Given the description of an element on the screen output the (x, y) to click on. 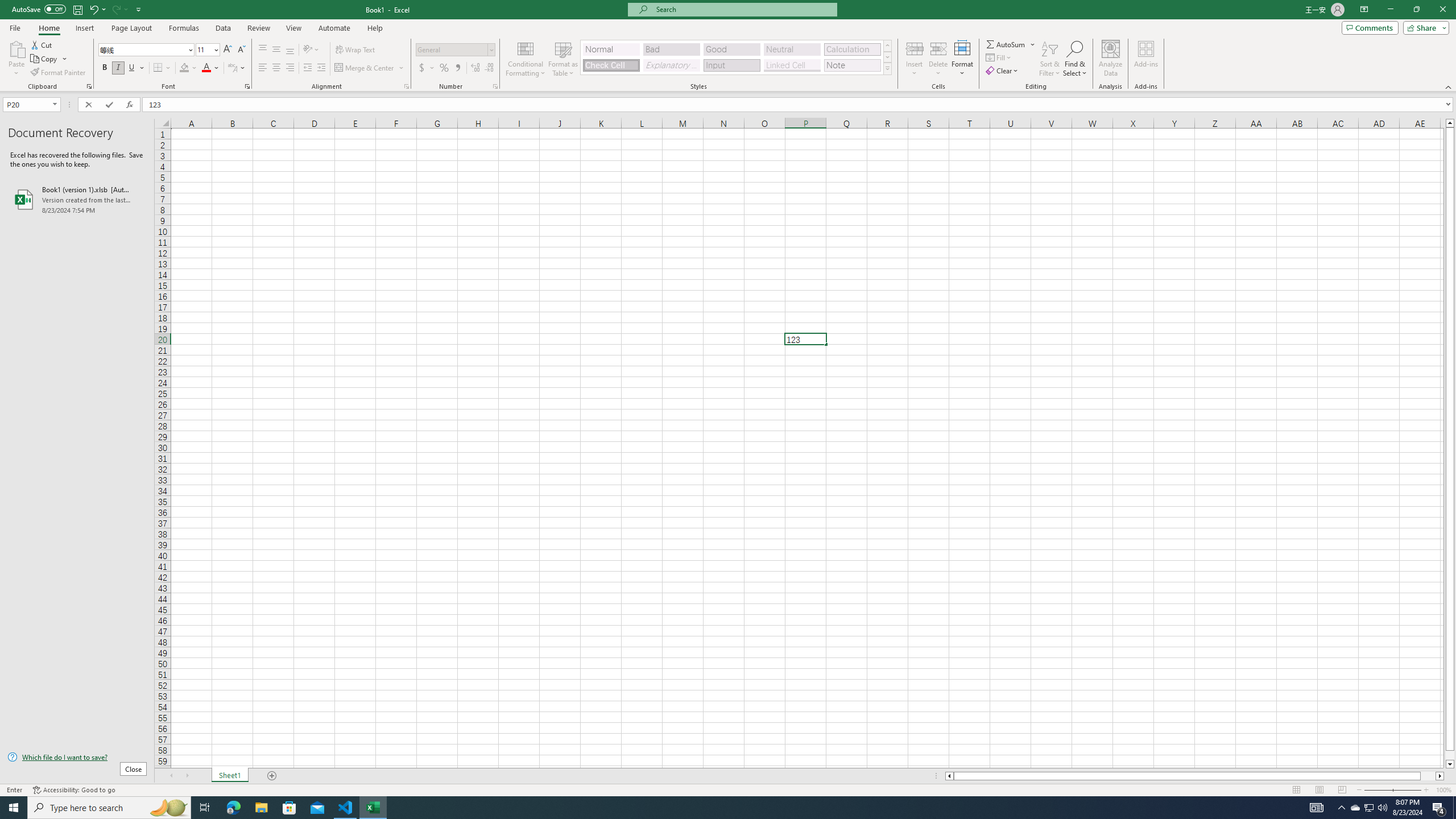
Office Clipboard... (88, 85)
Page right (1428, 775)
Line up (1449, 122)
Bottom Align (290, 49)
Find & Select (1075, 58)
Show Phonetic Field (236, 67)
Merge & Center (365, 67)
Class: NetUIImage (887, 68)
Format Cell Number (494, 85)
Accessibility Checker Accessibility: Good to go (74, 790)
Scroll Left (171, 775)
Delete Cells... (938, 48)
